Given the description of an element on the screen output the (x, y) to click on. 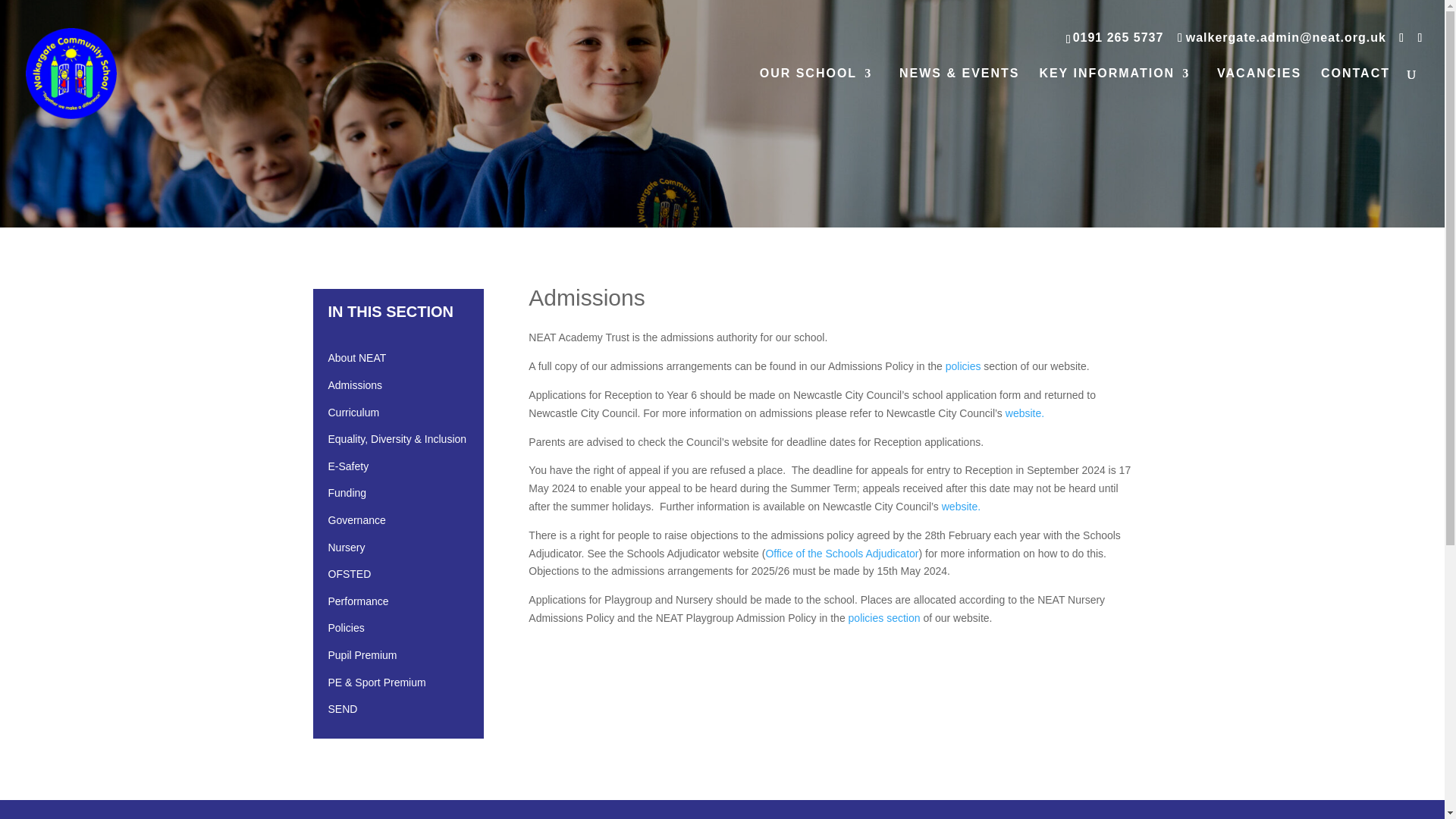
Curriculum (403, 415)
KEY INFORMATION (1114, 95)
OUR SCHOOL (816, 95)
About NEAT (403, 361)
Admissions (403, 388)
Funding (403, 496)
E-Safety (403, 469)
Governance (403, 523)
VACANCIES (1259, 95)
CONTACT (1355, 95)
